Given the description of an element on the screen output the (x, y) to click on. 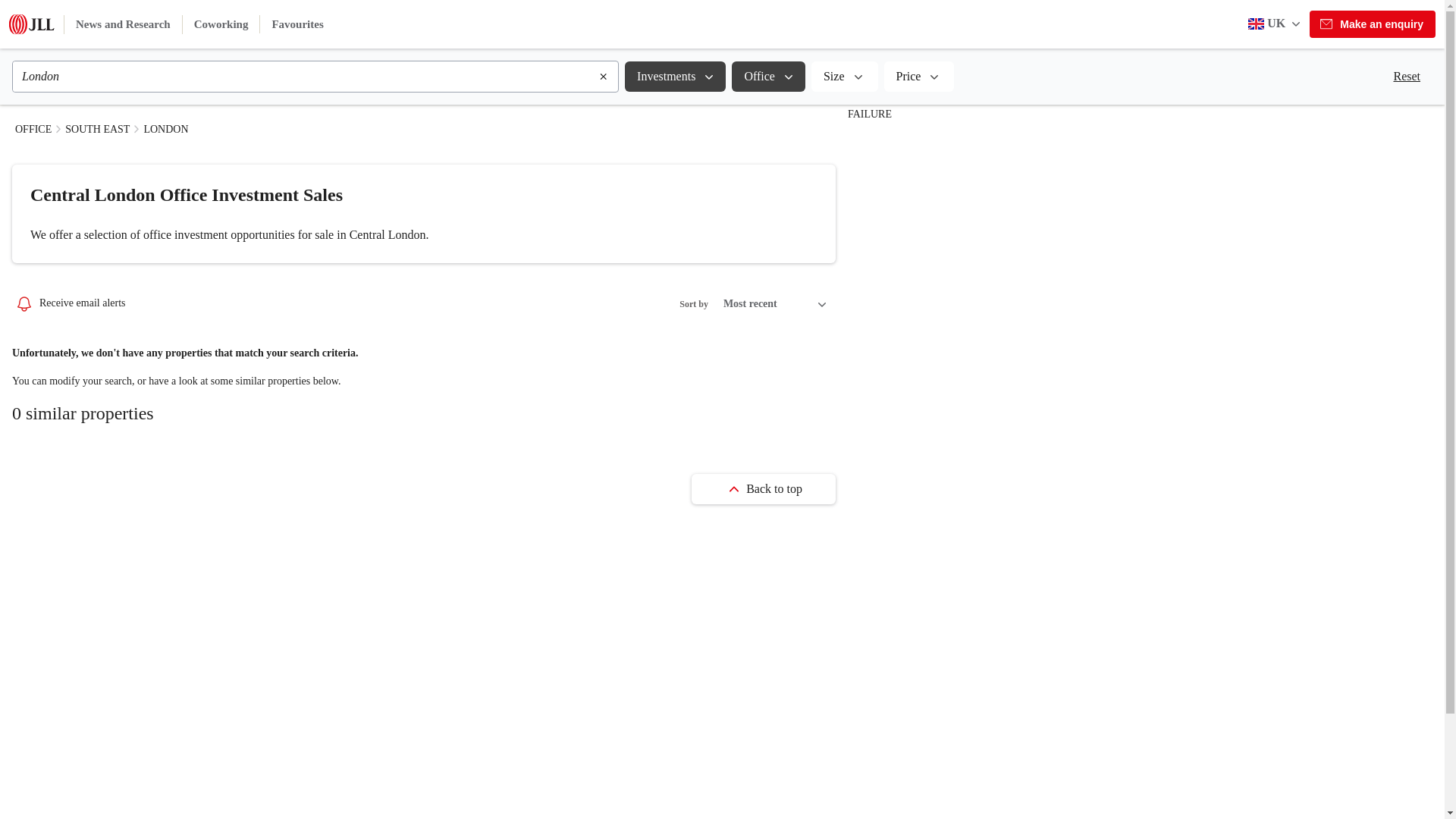
SOUTH EAST (97, 129)
Reset (1406, 76)
Coworking (220, 24)
Favourites (296, 24)
Price (919, 76)
Office (768, 76)
News and Research (122, 24)
UK (1275, 23)
investments (674, 76)
Make an enquiry (1371, 24)
Most recent (774, 303)
London (304, 76)
OFFICE (32, 129)
Receive email alerts (70, 303)
LONDON (164, 129)
